Given the description of an element on the screen output the (x, y) to click on. 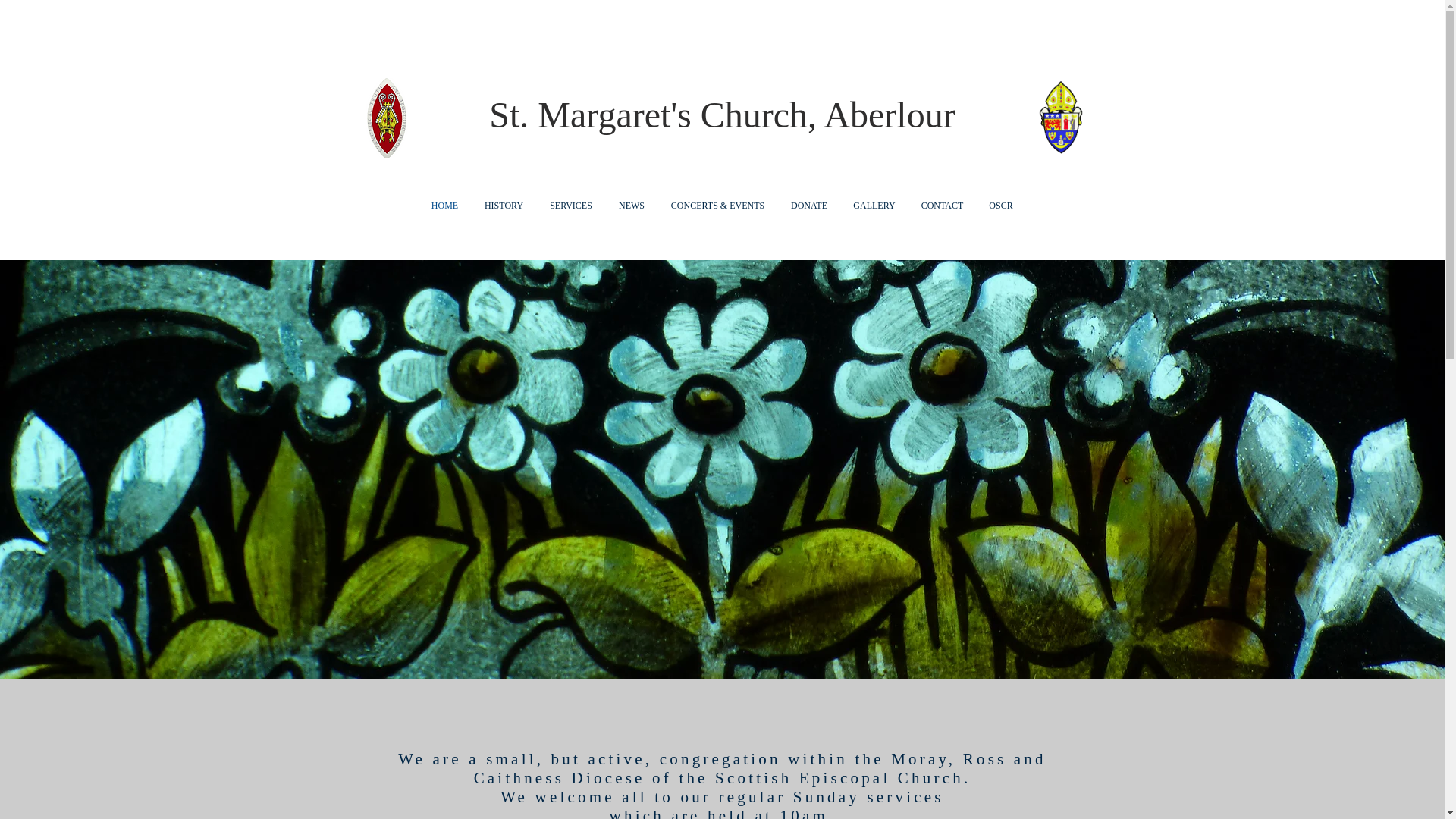
SERVICES (571, 205)
NEWS (631, 205)
DONATE (809, 205)
GALLERY (873, 205)
HISTORY (504, 205)
CONTACT (942, 205)
HOME (445, 205)
OSCR (1001, 205)
